Given the description of an element on the screen output the (x, y) to click on. 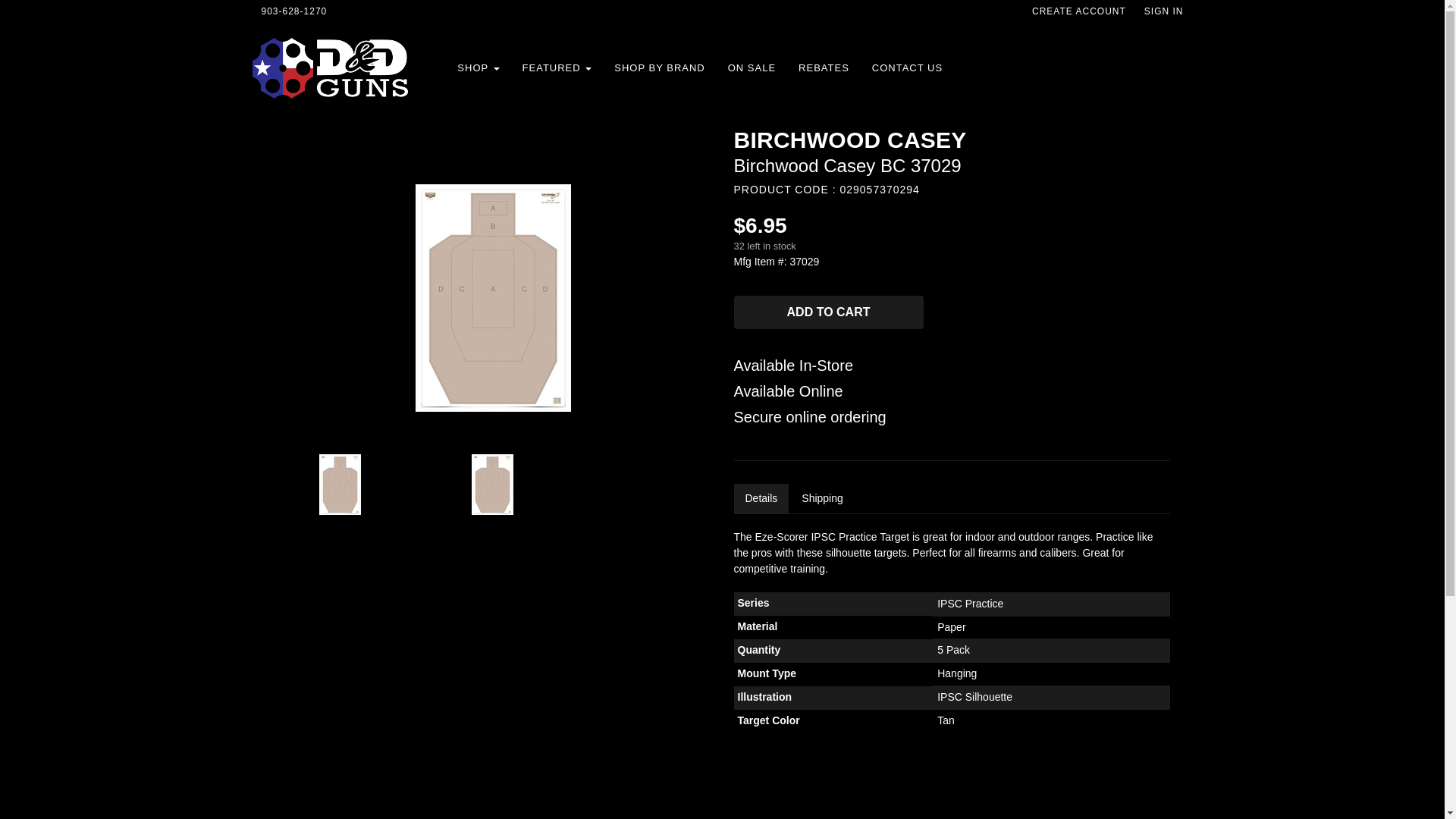
903-628-1270 (293, 11)
CREATE ACCOUNT (1079, 11)
CONTACT US (906, 67)
SHOP BY BRAND (659, 67)
FEATURED (557, 67)
SIGN IN (1163, 11)
